Given the description of an element on the screen output the (x, y) to click on. 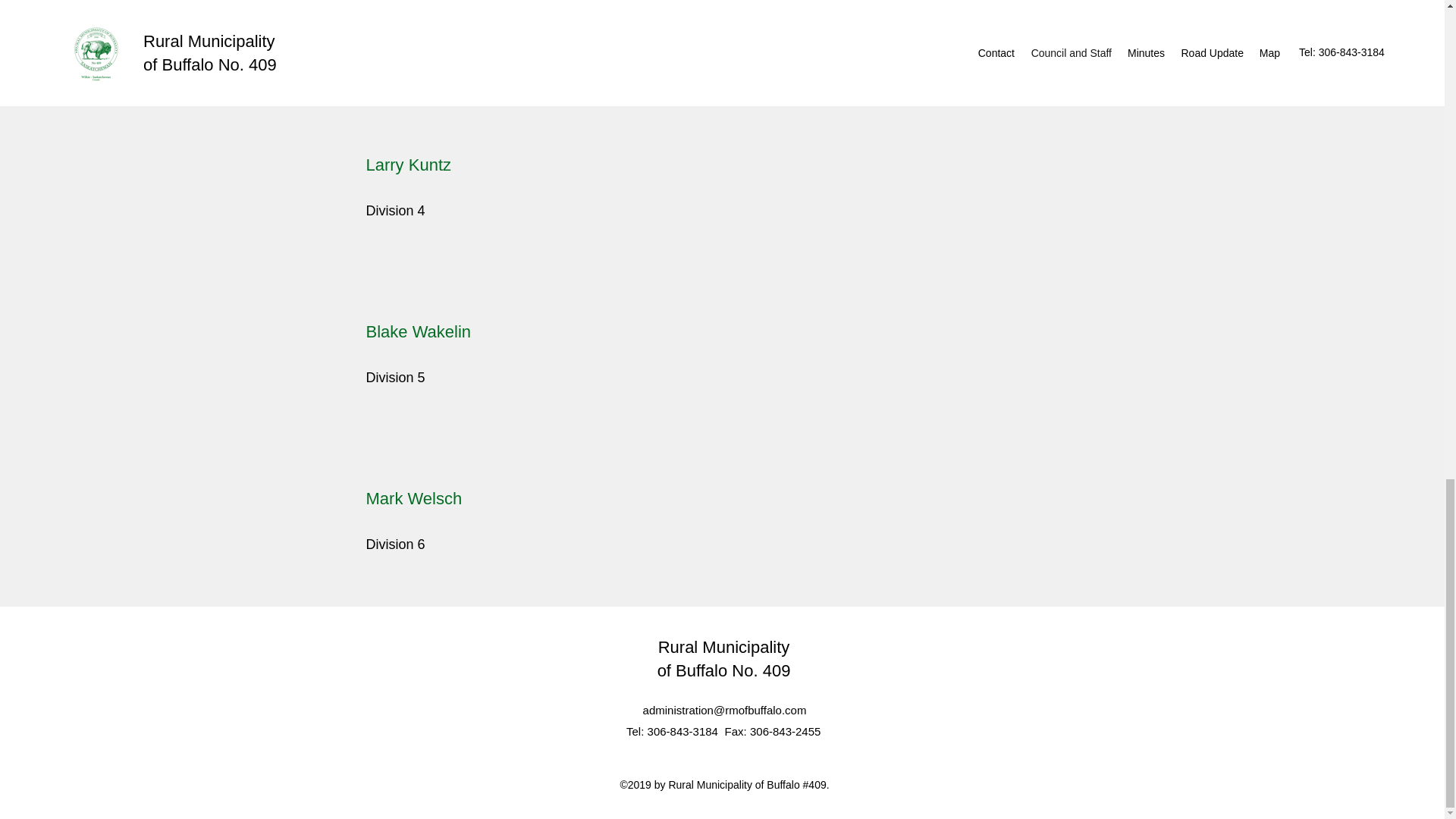
Buffalo  (703, 670)
of (666, 670)
Rural Municipality (724, 647)
No. 409 (761, 670)
